Given the description of an element on the screen output the (x, y) to click on. 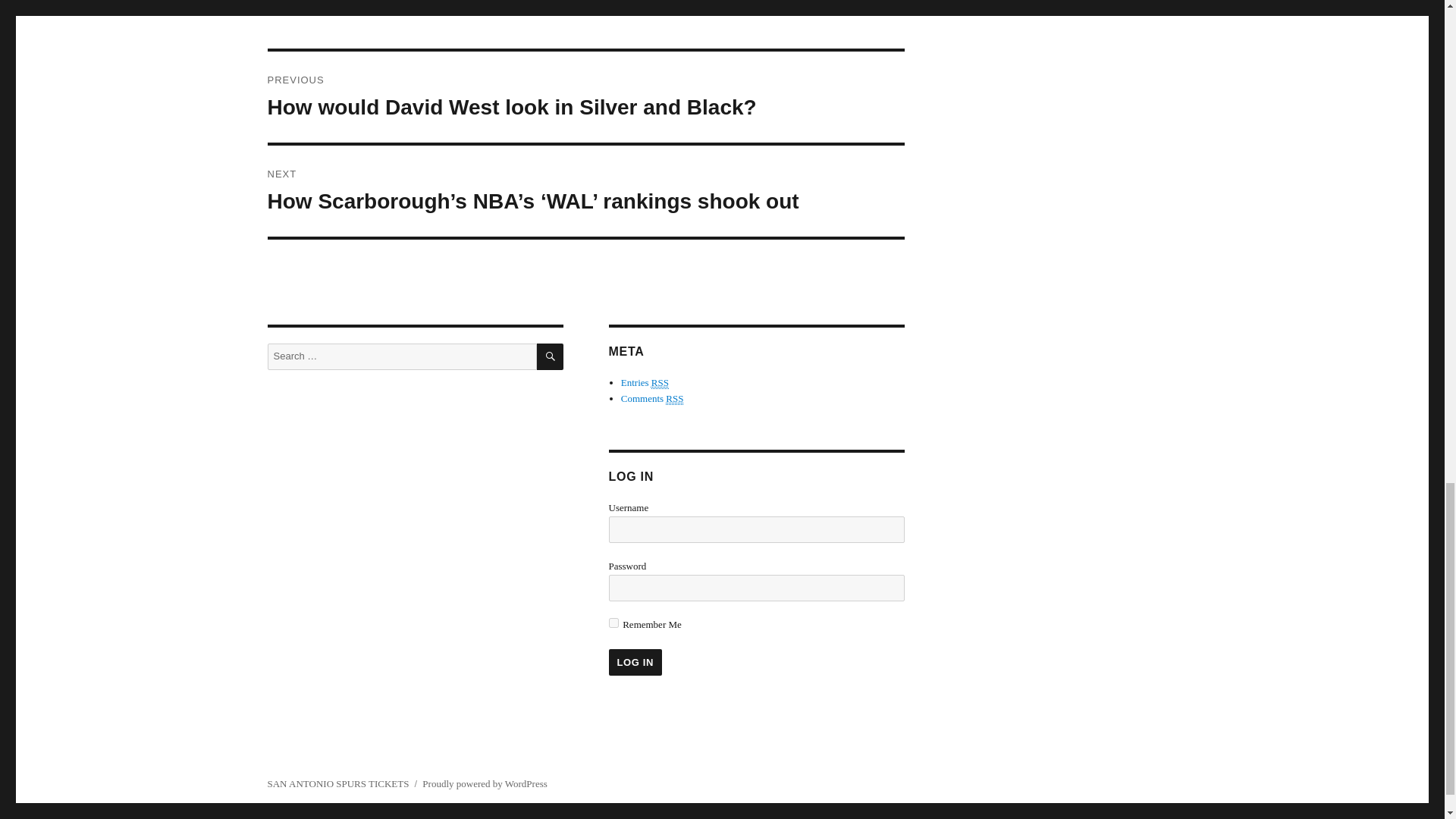
Log In (634, 662)
Comments RSS (652, 398)
The latest comments to all posts in RSS (652, 398)
Really Simple Syndication (659, 382)
Log In (634, 662)
Really Simple Syndication (673, 398)
forever (612, 623)
Entries RSS (644, 382)
SEARCH (550, 356)
